Given the description of an element on the screen output the (x, y) to click on. 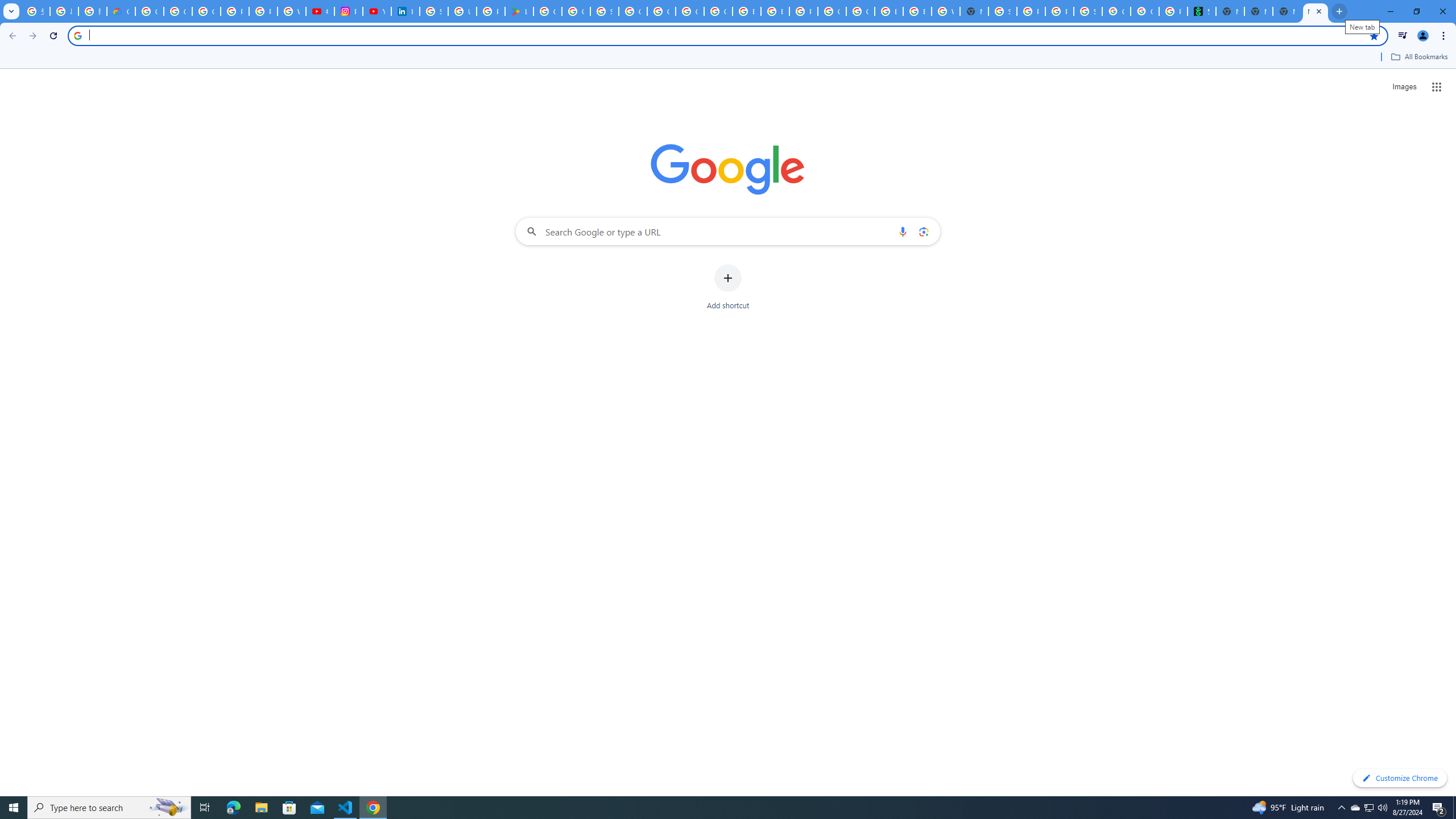
Sign in - Google Accounts (604, 11)
New Tab (973, 11)
YouTube Culture & Trends - On The Rise: Handcam Videos (377, 11)
New Tab (1258, 11)
Google Cloud Platform (831, 11)
